Given the description of an element on the screen output the (x, y) to click on. 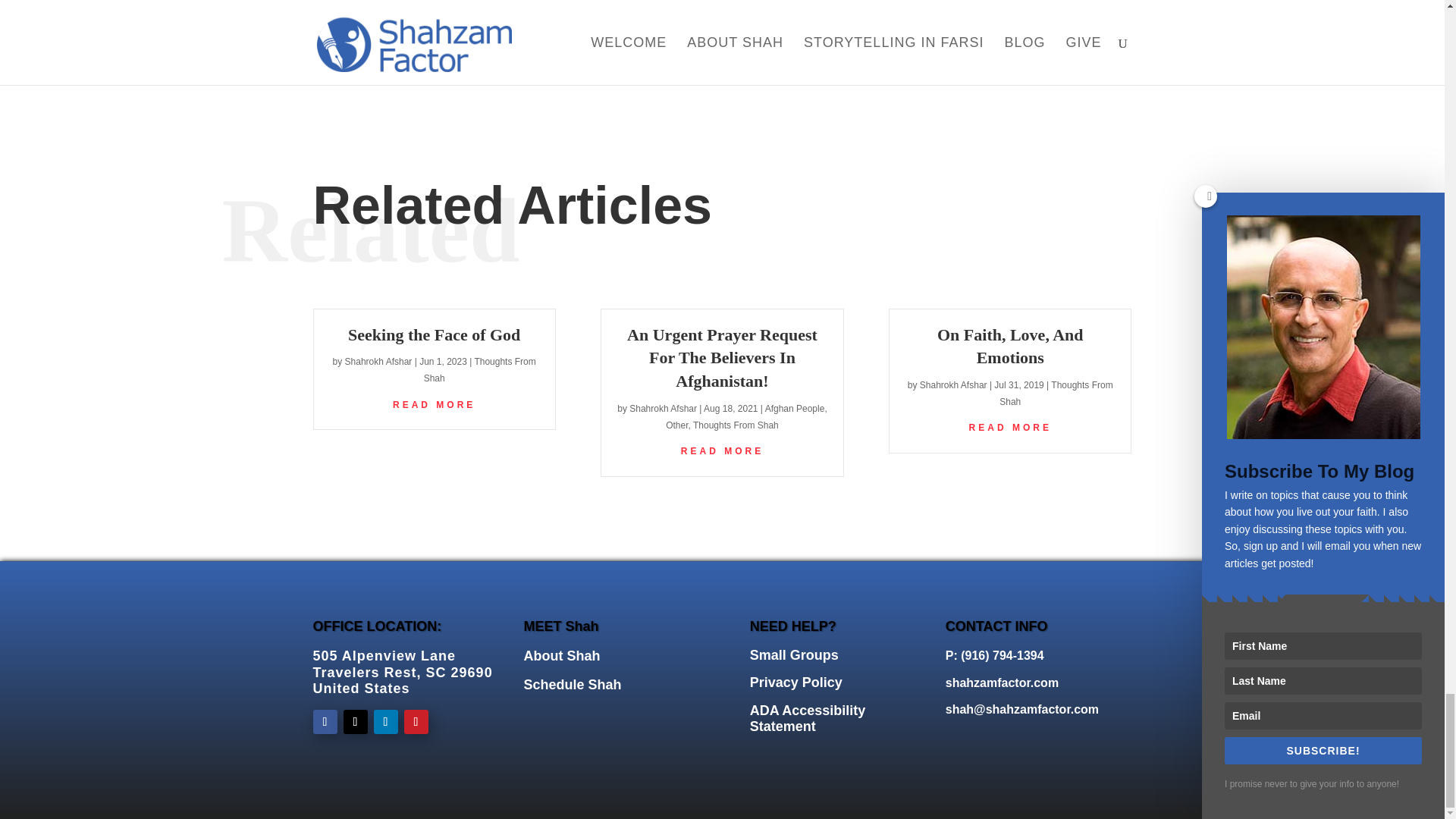
Posts by Shahrokh Afshar (378, 361)
Posts by Shahrokh Afshar (662, 408)
Shahrokh Afshar (953, 385)
Shahrokh Afshar (378, 361)
Privacy Policy (796, 682)
Schedule Shah (572, 684)
Other (676, 425)
Afghan People (795, 408)
About Shah (561, 655)
Follow on LinkedIn (384, 721)
Follow on Twitter (354, 721)
An Urgent Prayer Request For The Believers In Afghanistan! (721, 358)
Seeking the Face of God (433, 334)
Shahrokh Afshar (662, 408)
READ MORE (434, 404)
